Given the description of an element on the screen output the (x, y) to click on. 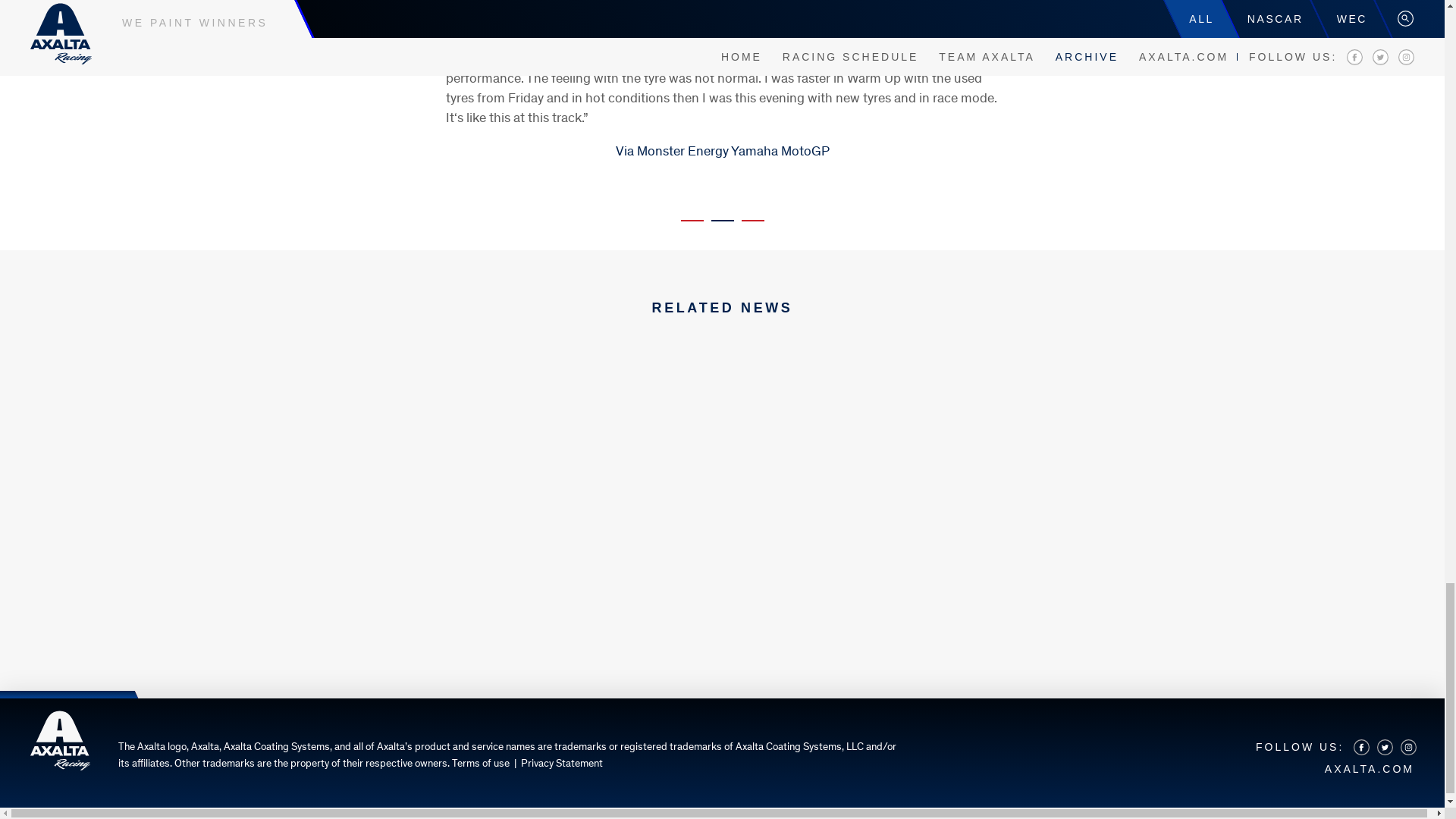
INSTAGRAM (1408, 747)
FACEBOOK (1360, 745)
Terms of use (480, 764)
FACEBOOK (1362, 747)
Via Monster Energy Yamaha MotoGP (722, 151)
TWITTER (1383, 745)
Privacy Statement (561, 764)
TWITTER (1385, 747)
